Given the description of an element on the screen output the (x, y) to click on. 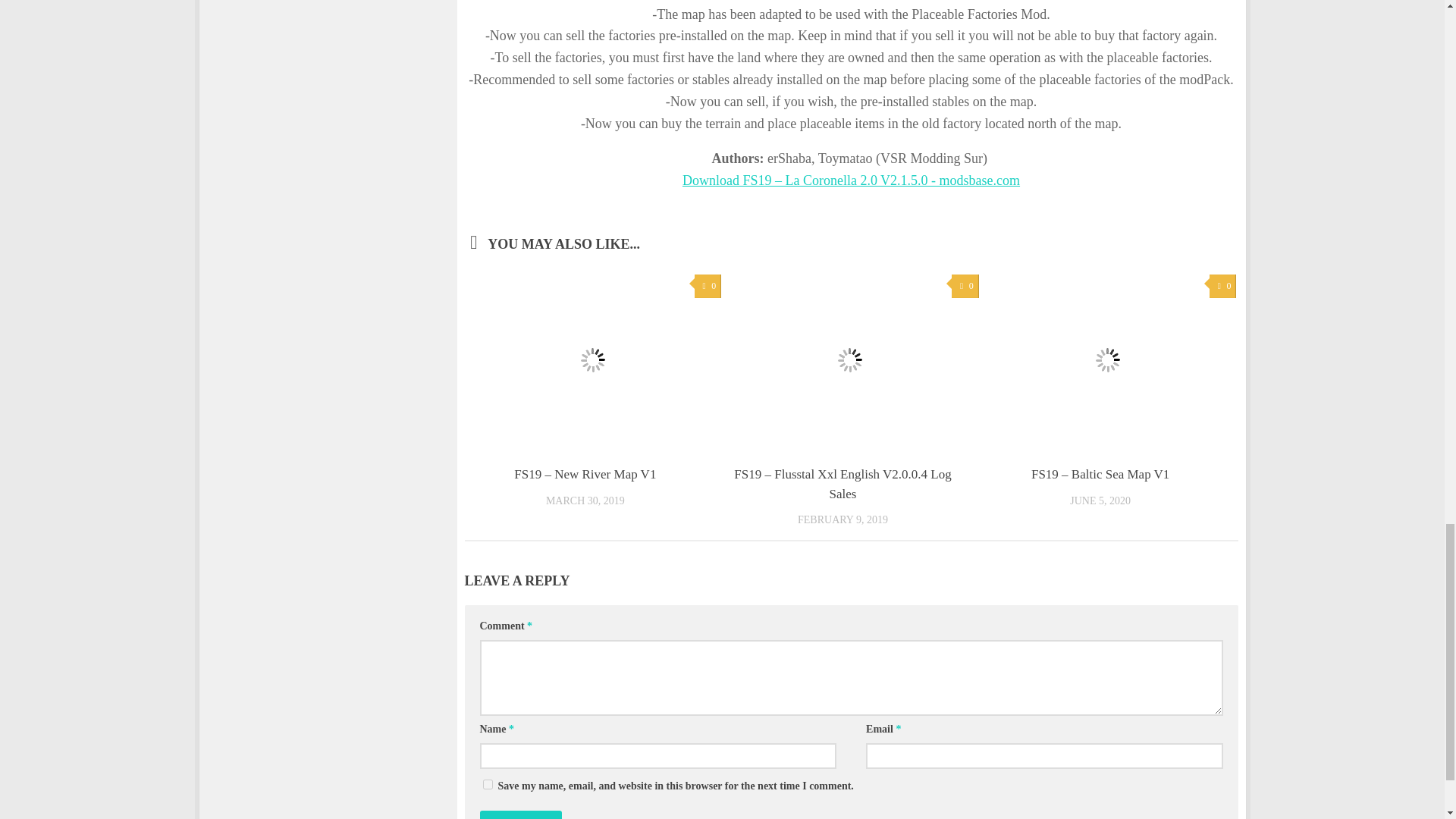
yes (486, 784)
Post Comment (519, 814)
